Given the description of an element on the screen output the (x, y) to click on. 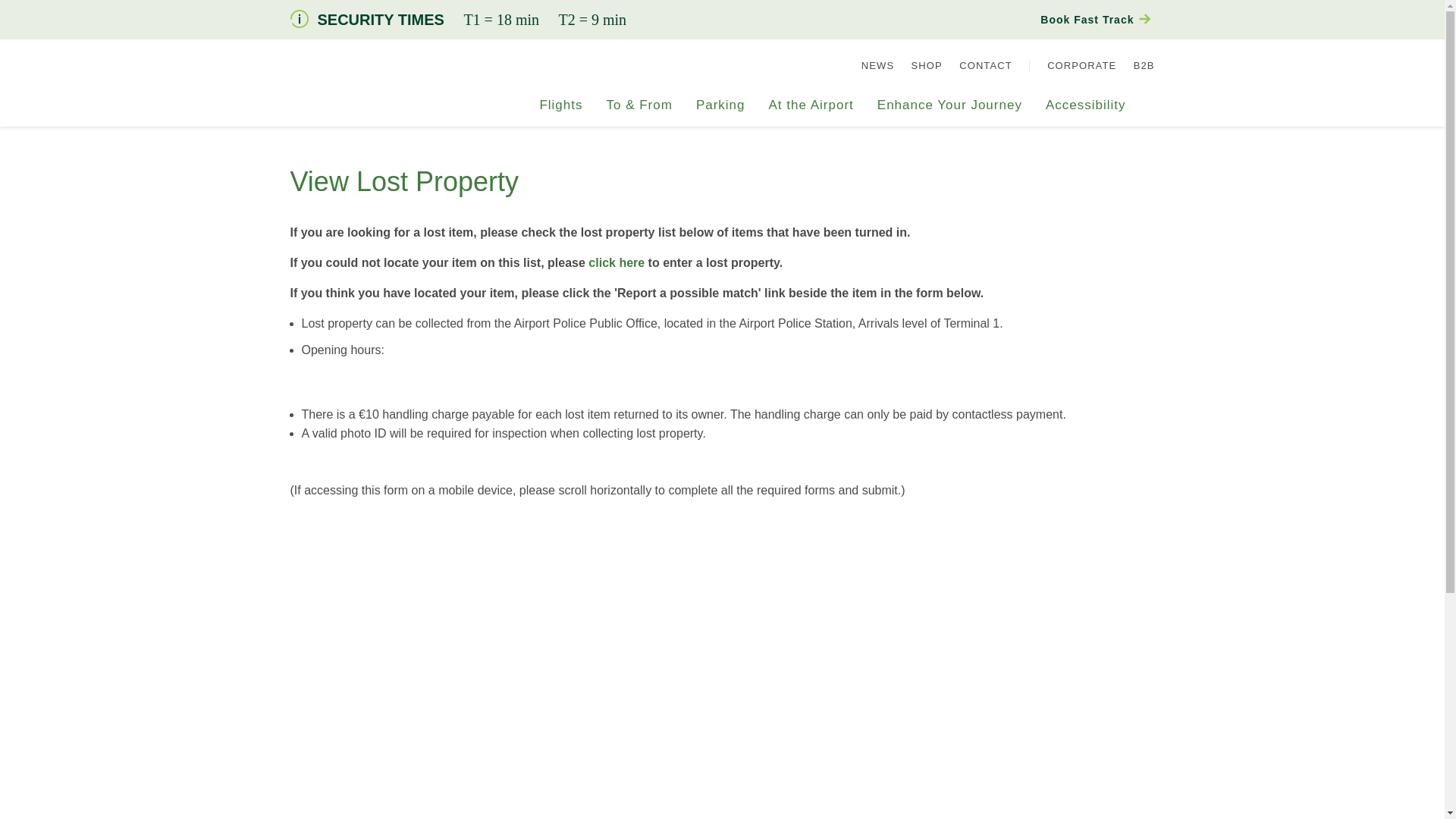
CONTACT (985, 65)
CORPORATE (1081, 65)
Flights (560, 111)
B2B (1144, 65)
SHOP (926, 65)
NEWS (877, 65)
Dublin Airport Home (349, 104)
